Given the description of an element on the screen output the (x, y) to click on. 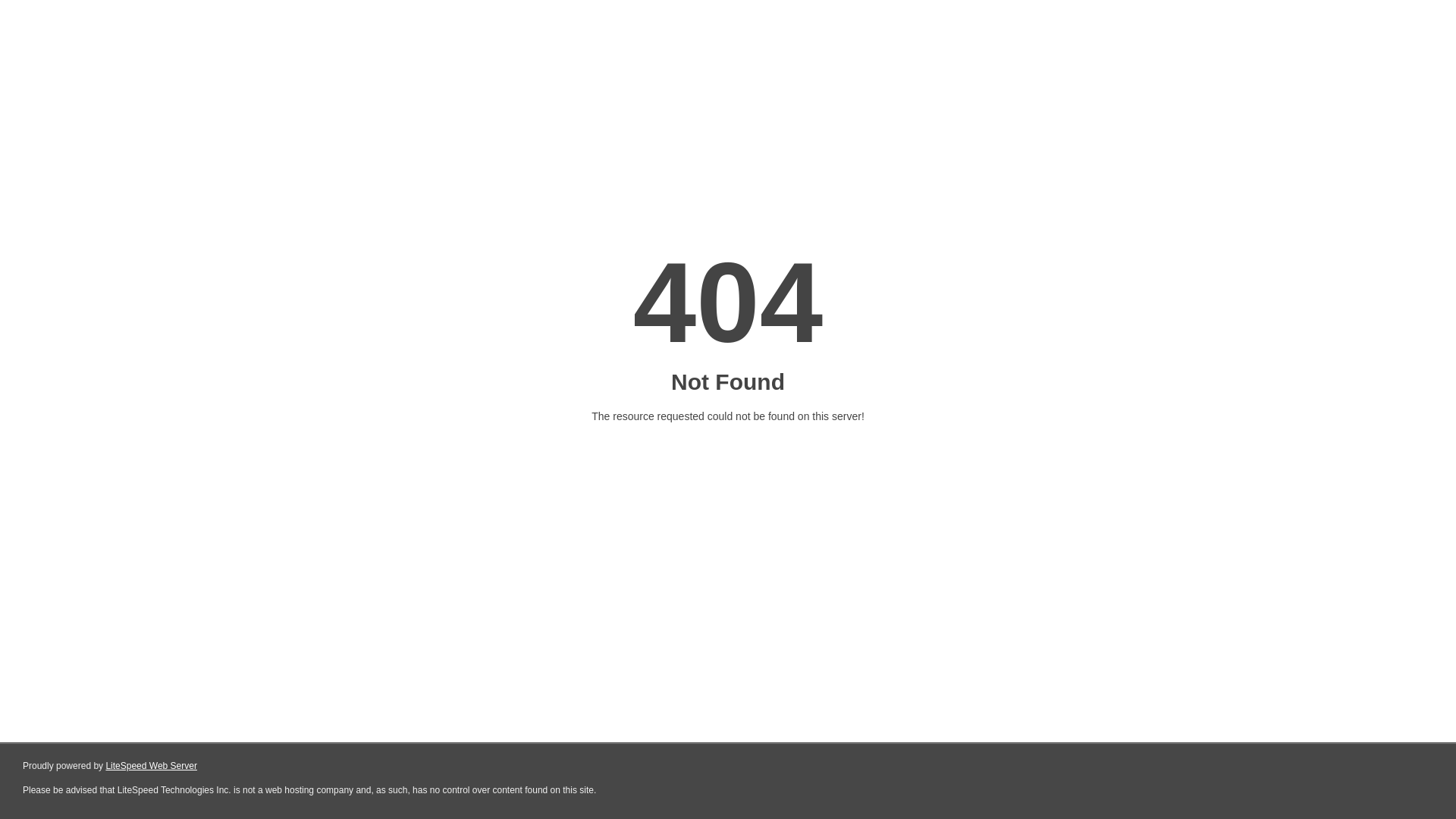
LiteSpeed Web Server Element type: text (151, 765)
